Given the description of an element on the screen output the (x, y) to click on. 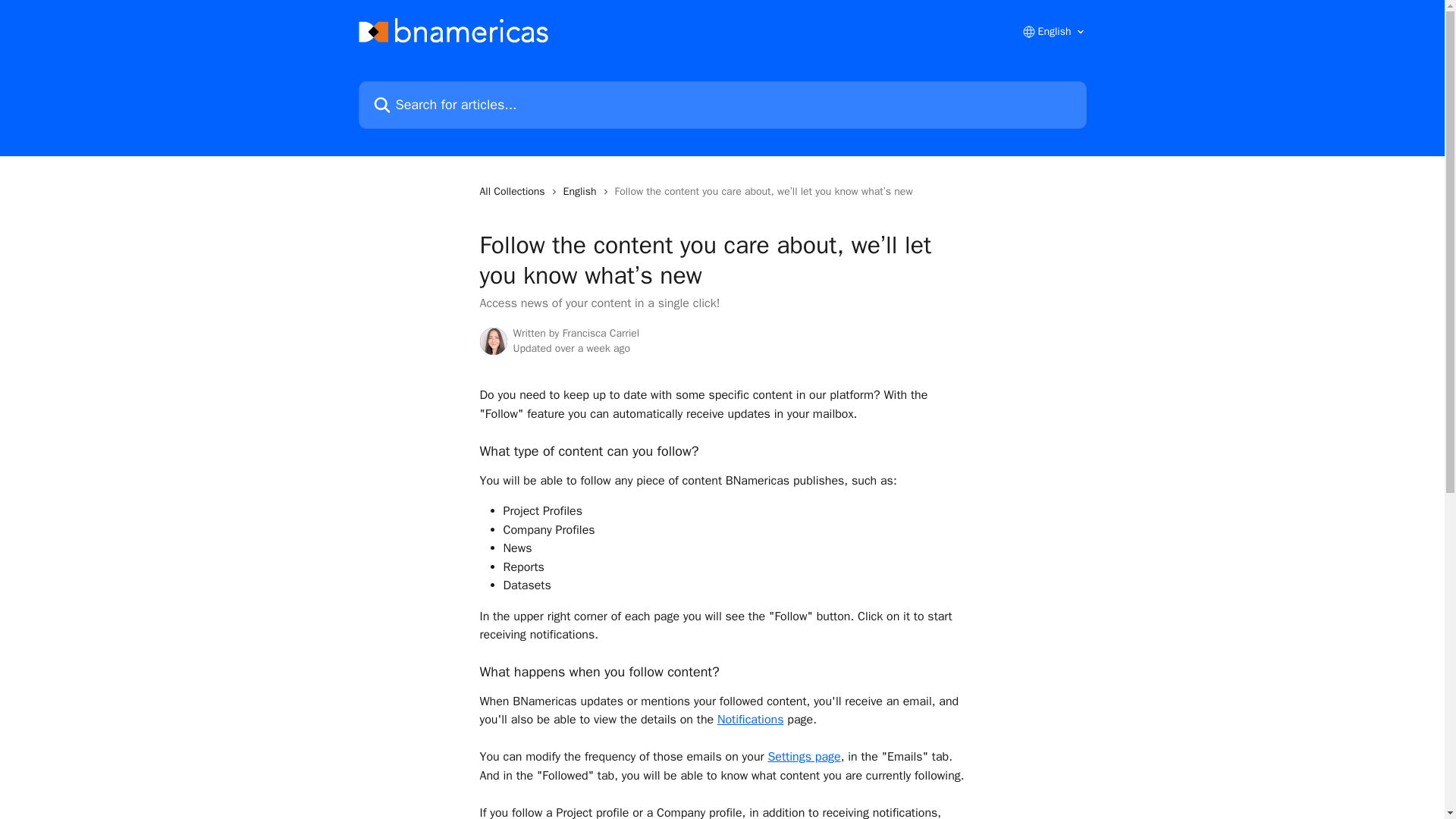
Notifications (750, 719)
Settings page (803, 756)
All Collections (514, 191)
English (582, 191)
